Given the description of an element on the screen output the (x, y) to click on. 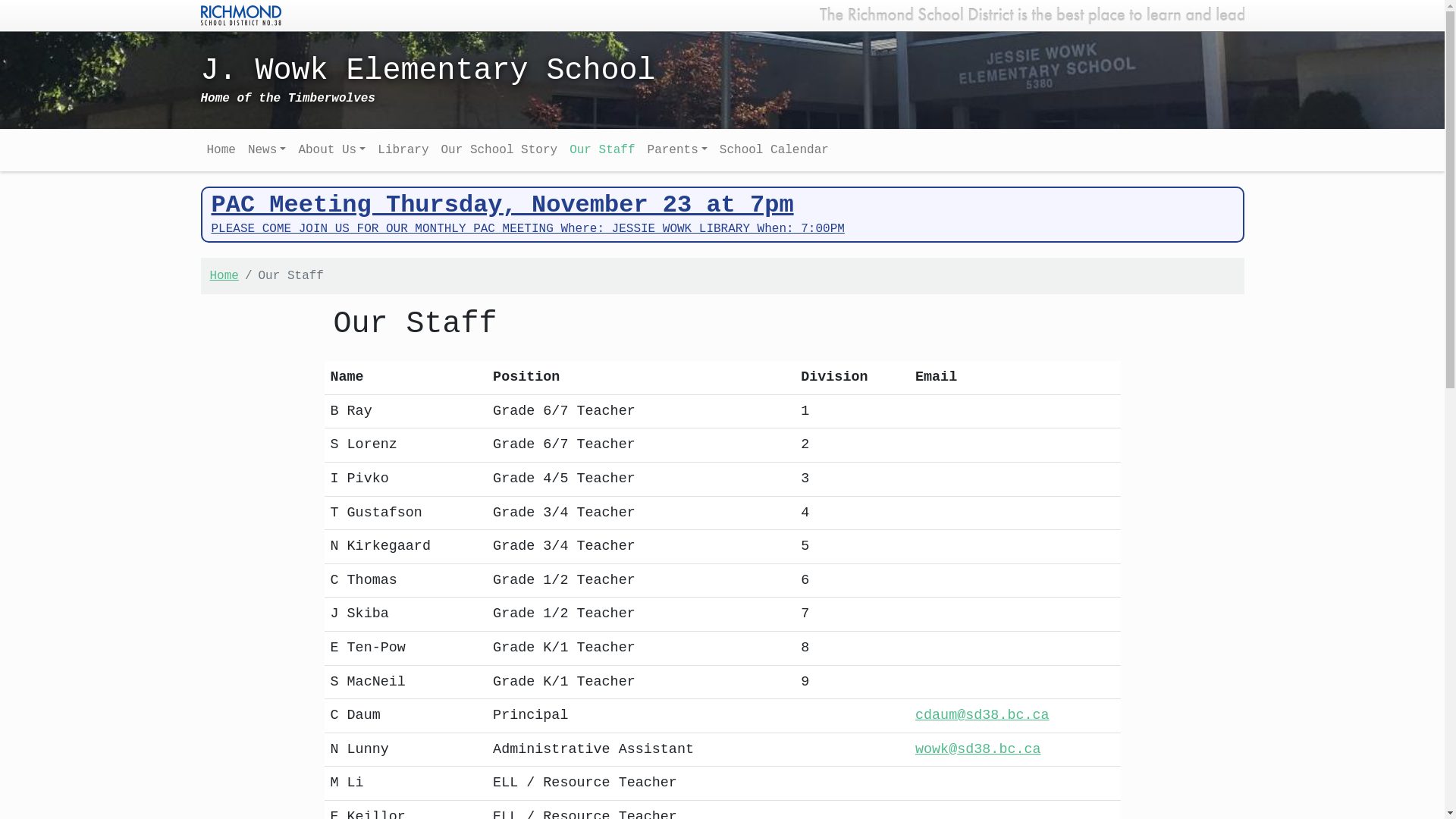
Home Element type: text (220, 149)
News Element type: text (266, 149)
wowk@sd38.bc.ca Element type: text (978, 749)
Library Element type: text (402, 149)
About Us Element type: text (331, 149)
J. Wowk Elementary School Element type: text (589, 79)
Our Staff Element type: text (601, 149)
School Calendar Element type: text (773, 149)
cdaum@sd38.bc.ca Element type: text (982, 715)
Home Element type: text (223, 275)
Our School Story Element type: text (499, 149)
District Logo Element type: text (240, 13)
Parents Element type: text (677, 149)
